Given the description of an element on the screen output the (x, y) to click on. 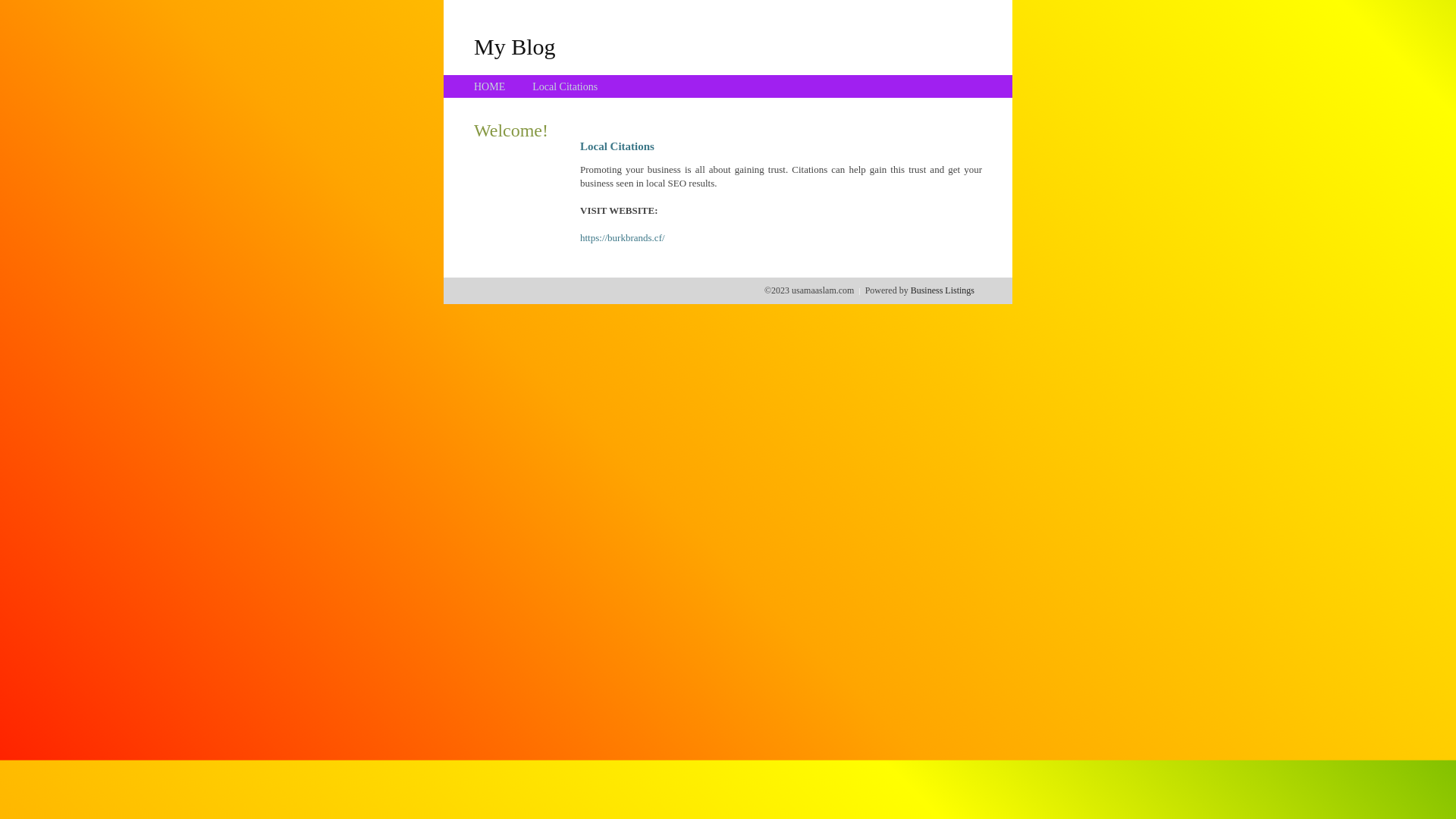
Local Citations Element type: text (564, 86)
Business Listings Element type: text (942, 290)
My Blog Element type: text (514, 46)
https://burkbrands.cf/ Element type: text (622, 237)
HOME Element type: text (489, 86)
